Given the description of an element on the screen output the (x, y) to click on. 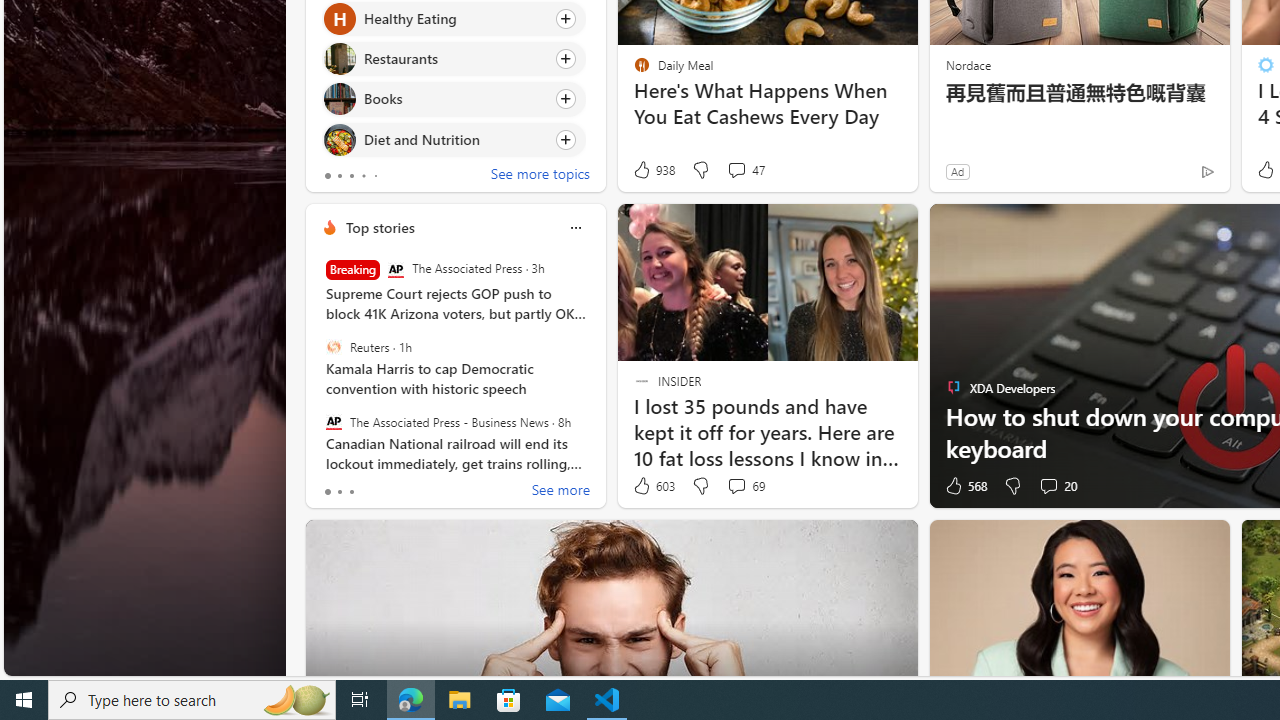
Reuters (333, 347)
View comments 69 Comment (745, 485)
Top stories (379, 227)
View comments 47 Comment (736, 169)
